Given the description of an element on the screen output the (x, y) to click on. 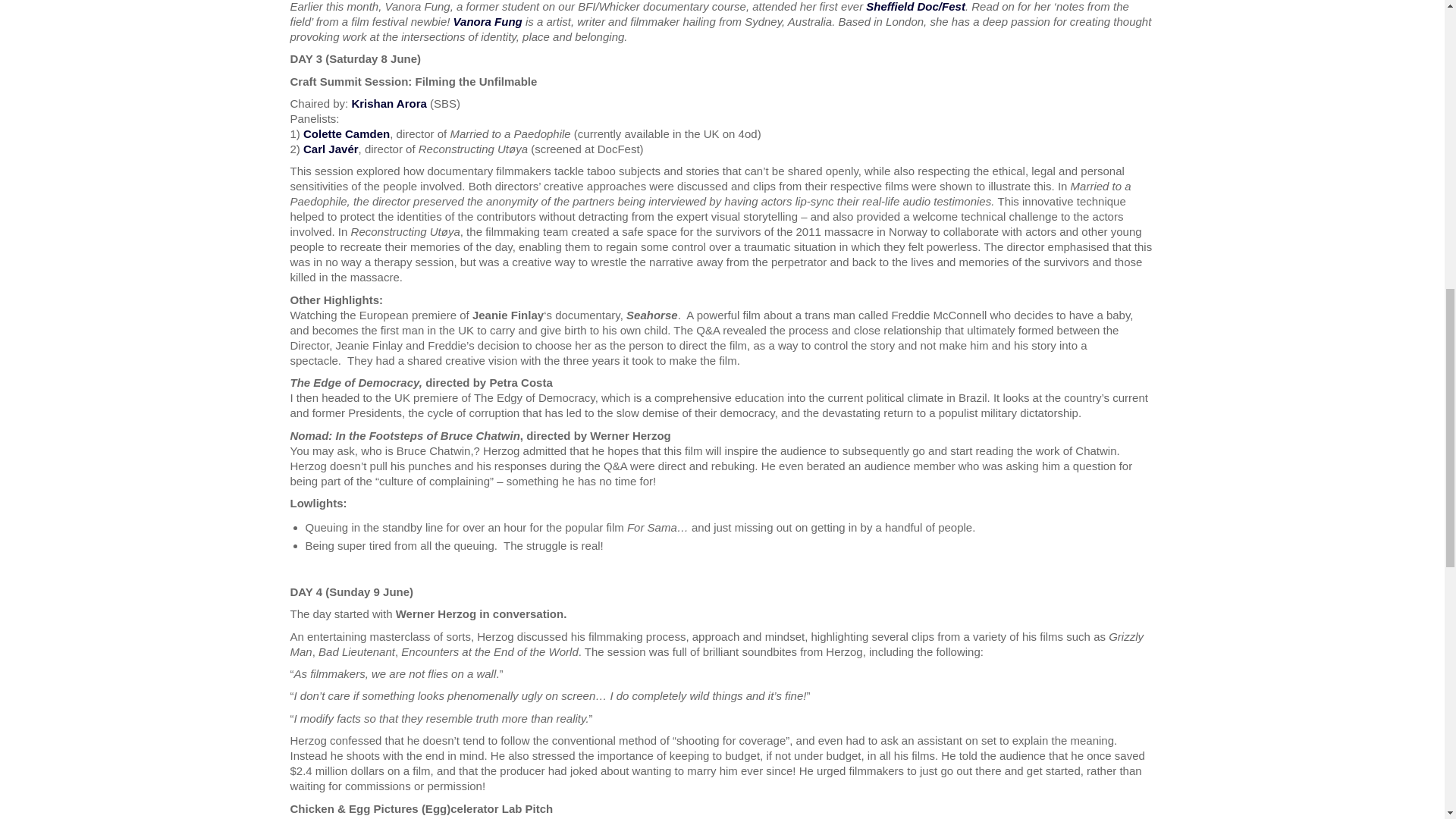
Vanora Fung (487, 21)
Krishan Arora (388, 103)
Colette Camden (346, 133)
